Given the description of an element on the screen output the (x, y) to click on. 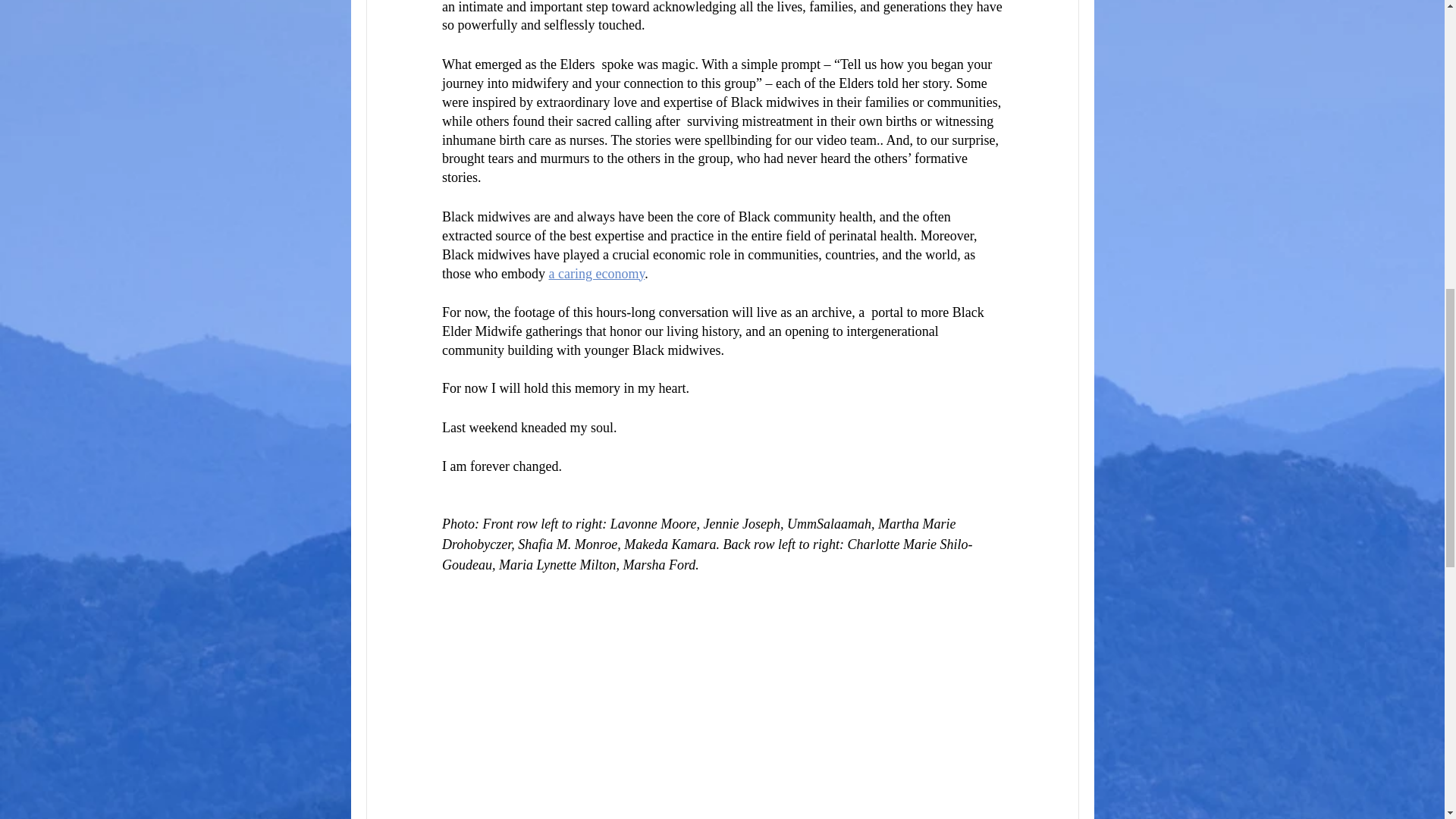
a caring economy (596, 273)
